Given the description of an element on the screen output the (x, y) to click on. 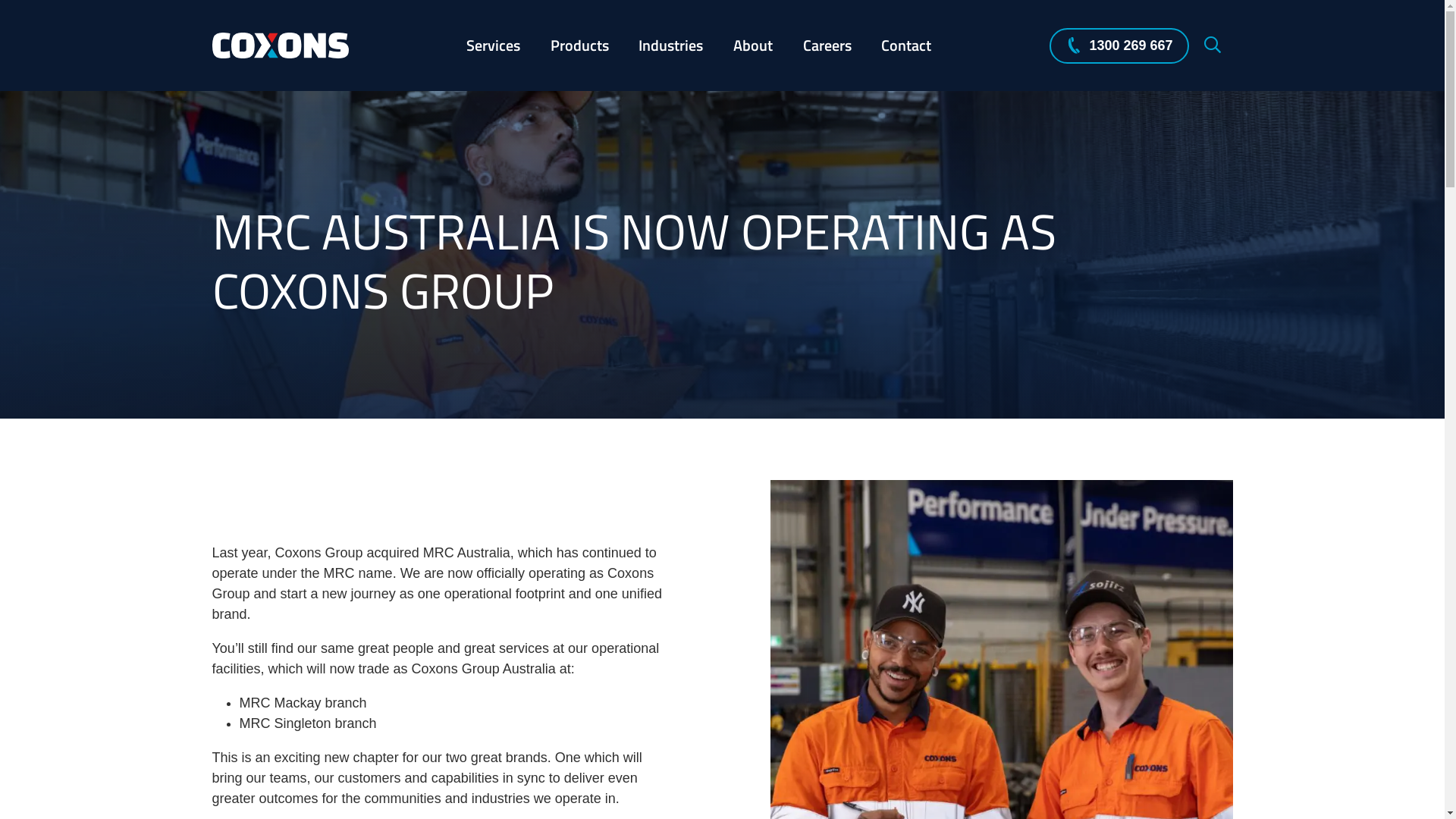
Careers Element type: text (826, 45)
About Element type: text (752, 45)
Contact Element type: text (906, 45)
Products Element type: text (579, 45)
Services Element type: text (493, 45)
Industries Element type: text (671, 45)
1300 269 667 Element type: text (1119, 44)
